Given the description of an element on the screen output the (x, y) to click on. 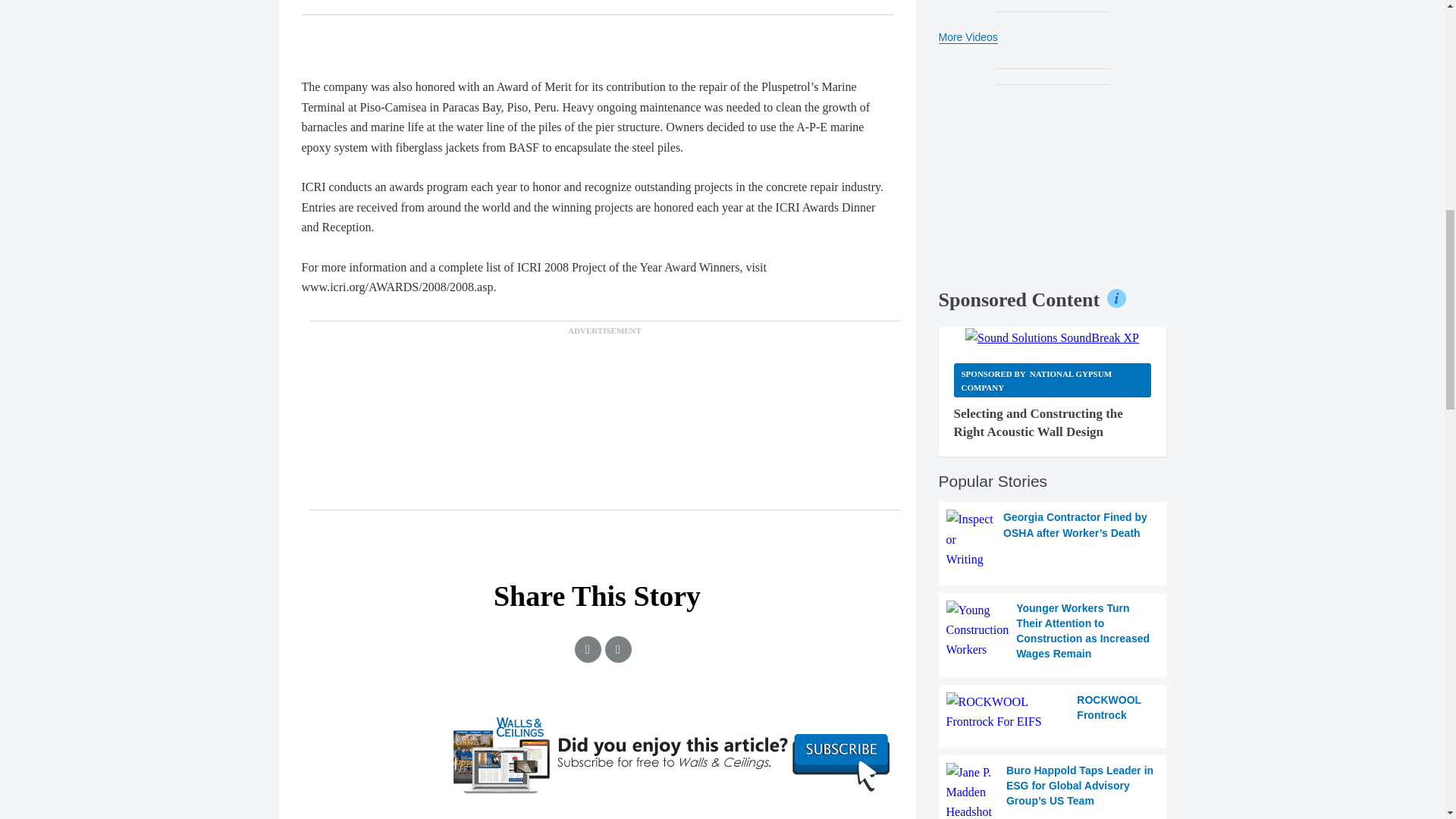
Sound Solutions SoundBreak XP (1051, 338)
Sponsored by National Gypsum Company (1052, 380)
ROCKWOOL Frontrock (1052, 712)
